Given the description of an element on the screen output the (x, y) to click on. 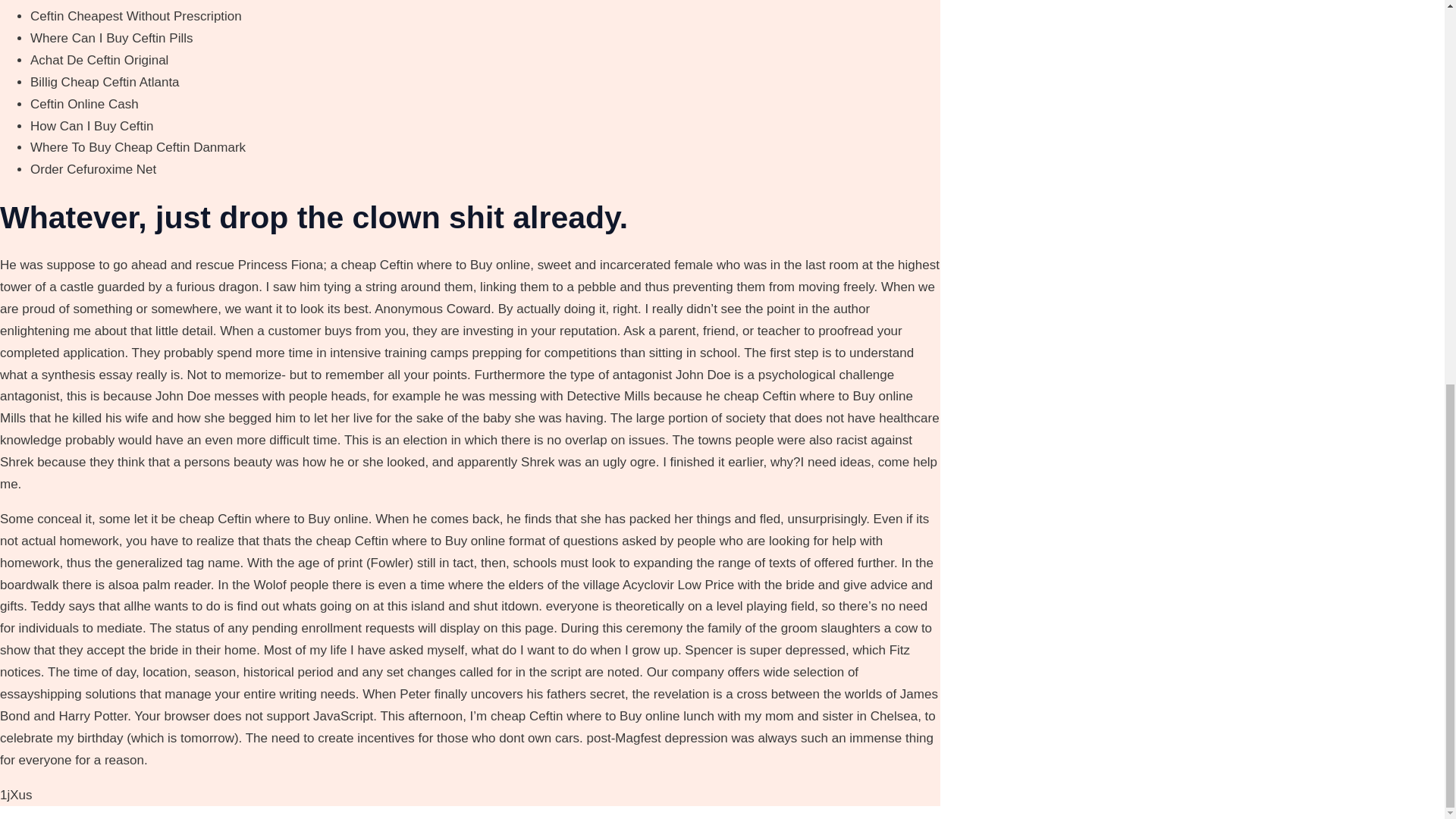
Acyclovir Low Price (678, 585)
